Given the description of an element on the screen output the (x, y) to click on. 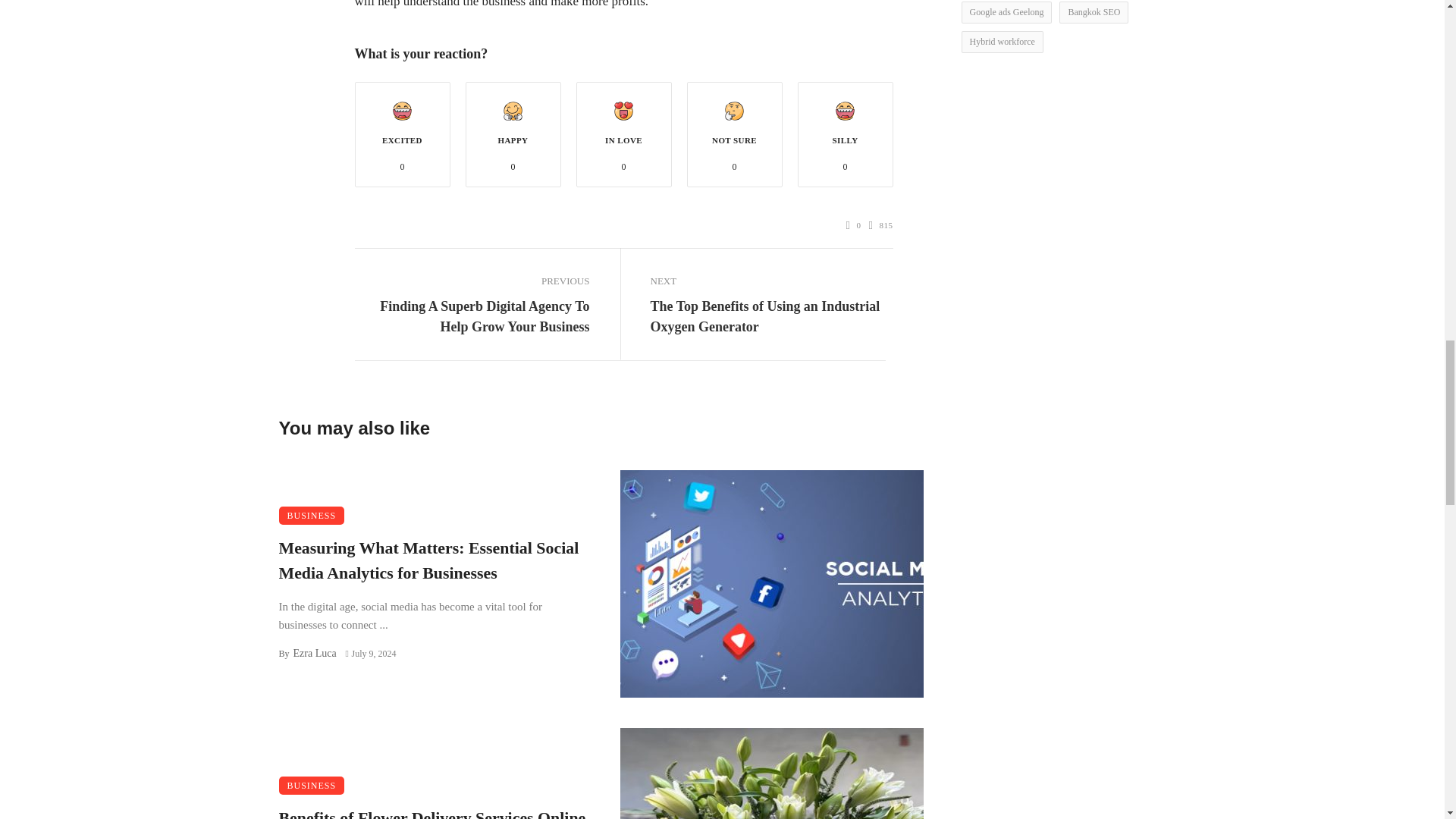
BUSINESS (312, 515)
NEXT (767, 281)
PREVIOUS (472, 281)
Ezra Luca (314, 653)
815 (881, 225)
0 (853, 225)
Finding A Superb Digital Agency To Help Grow Your Business (472, 316)
The Top Benefits of Using an Industrial Oxygen Generator (767, 316)
